Given the description of an element on the screen output the (x, y) to click on. 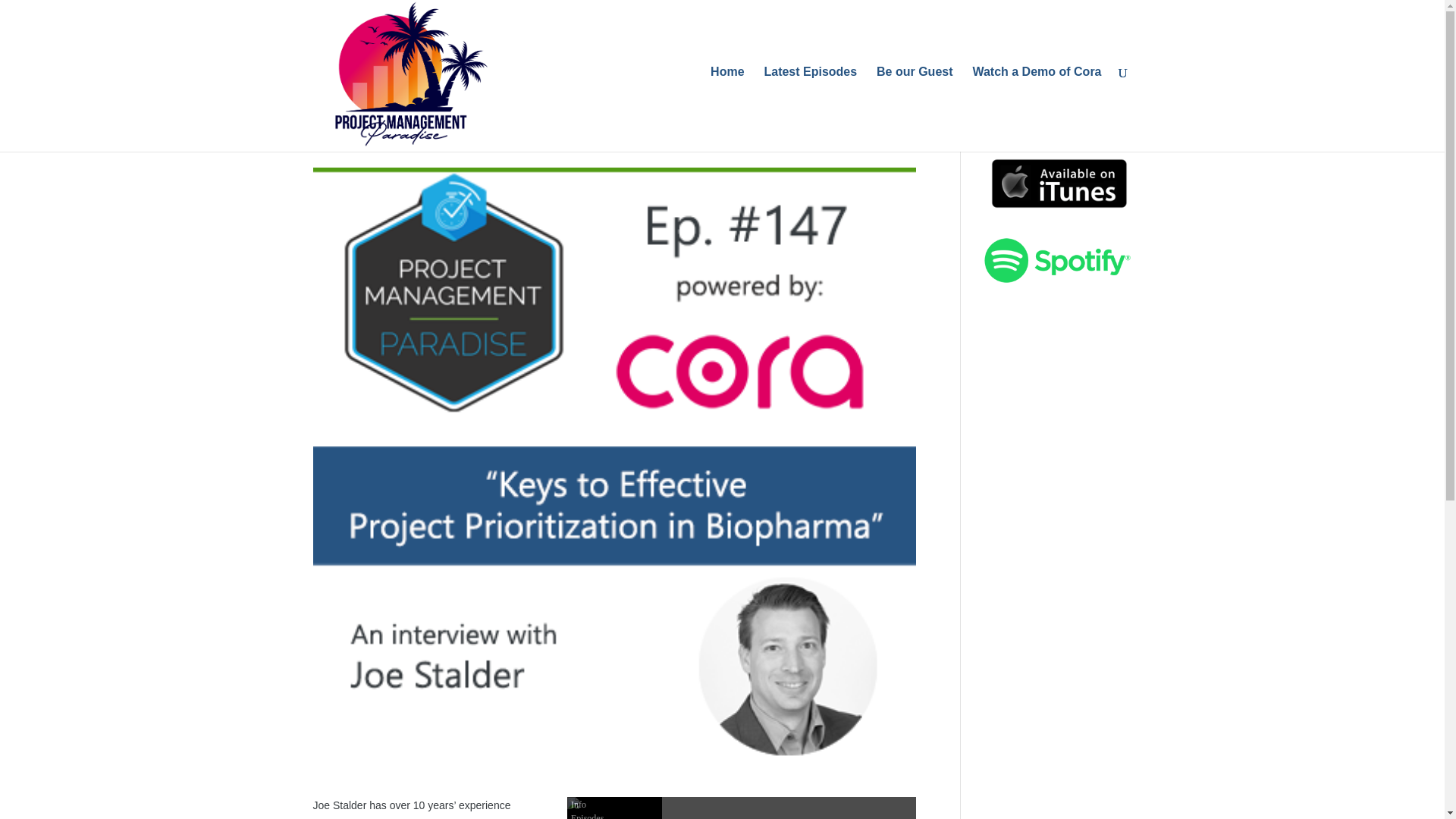
Latest Episodes (809, 105)
Search (1106, 119)
Richard Fitzpatrick (374, 141)
Posts by Richard Fitzpatrick (374, 141)
Be our Guest (914, 105)
Search (1106, 119)
Watch a Demo of Cora (1036, 105)
